Given the description of an element on the screen output the (x, y) to click on. 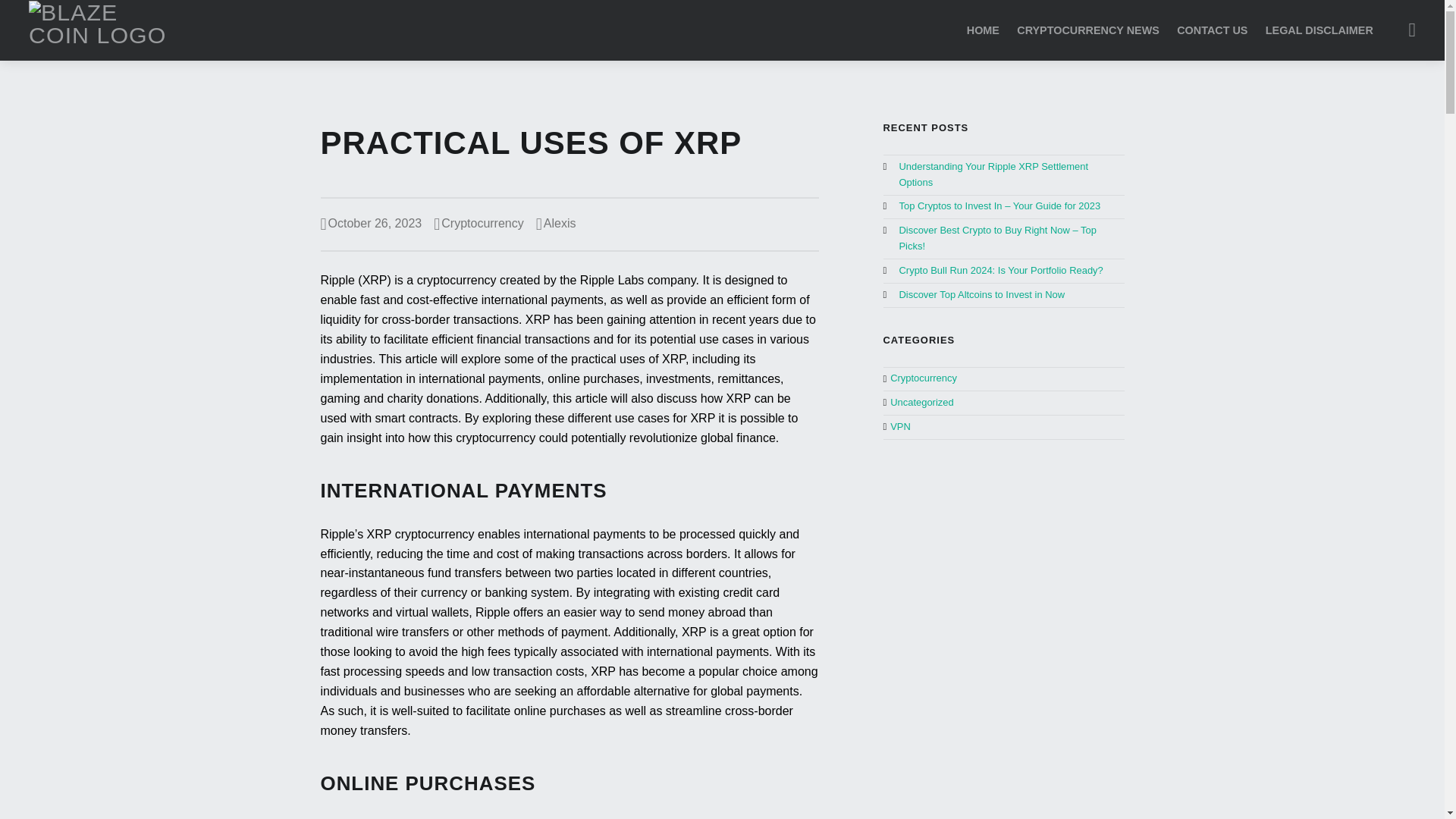
Understanding Your Ripple XRP Settlement Options (992, 174)
Discover Top Altcoins to Invest in Now (981, 294)
Cryptocurrency (481, 223)
Alexis (559, 223)
Cryptocurrency (922, 378)
BLAZE COIN (105, 28)
Uncategorized (921, 401)
LEGAL DISCLAIMER (1319, 30)
CONTACT US (1211, 30)
VPN (900, 426)
